Given the description of an element on the screen output the (x, y) to click on. 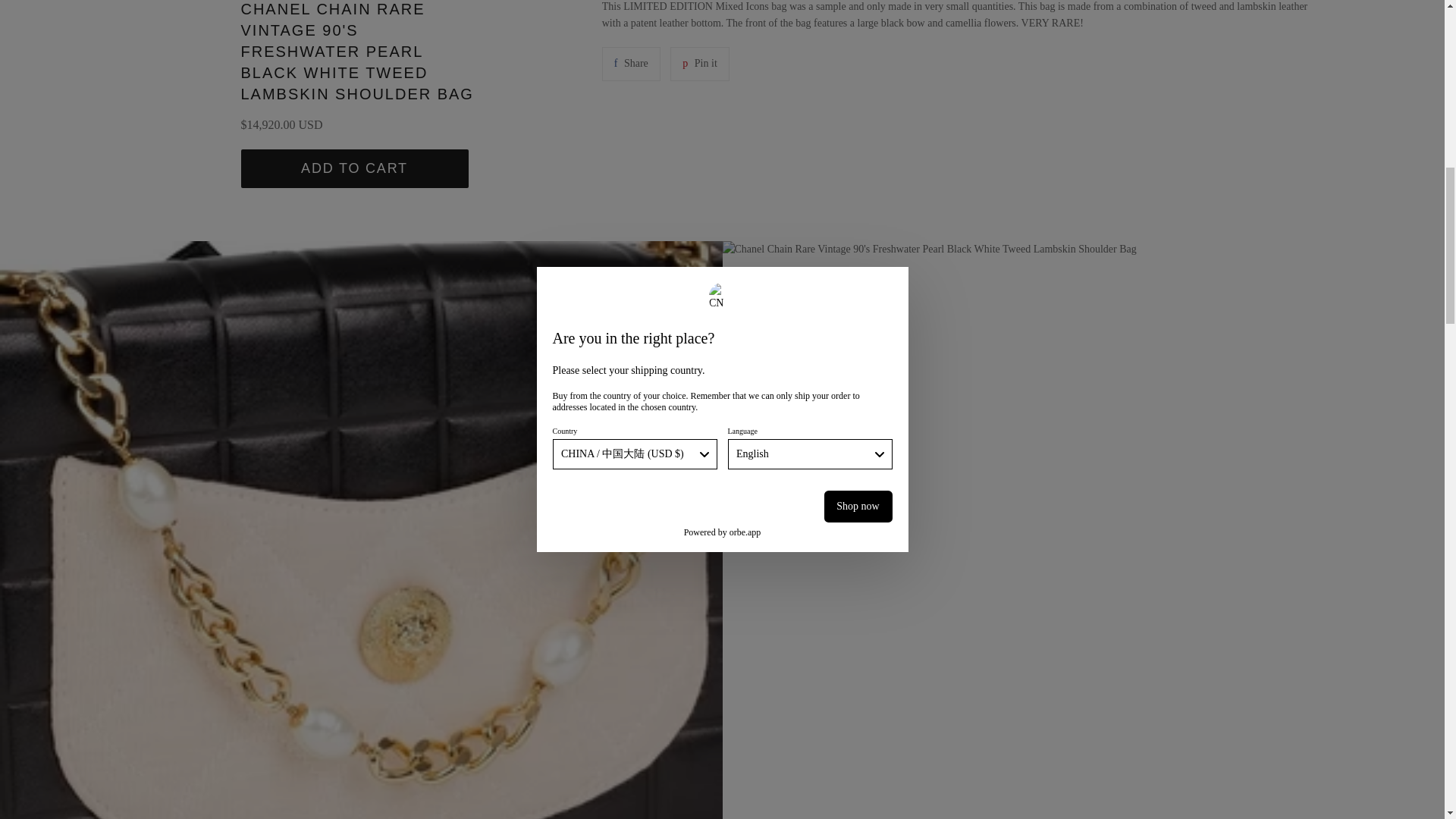
Share on Facebook (631, 63)
ADD TO CART (631, 63)
Pin on Pinterest (699, 63)
